Given the description of an element on the screen output the (x, y) to click on. 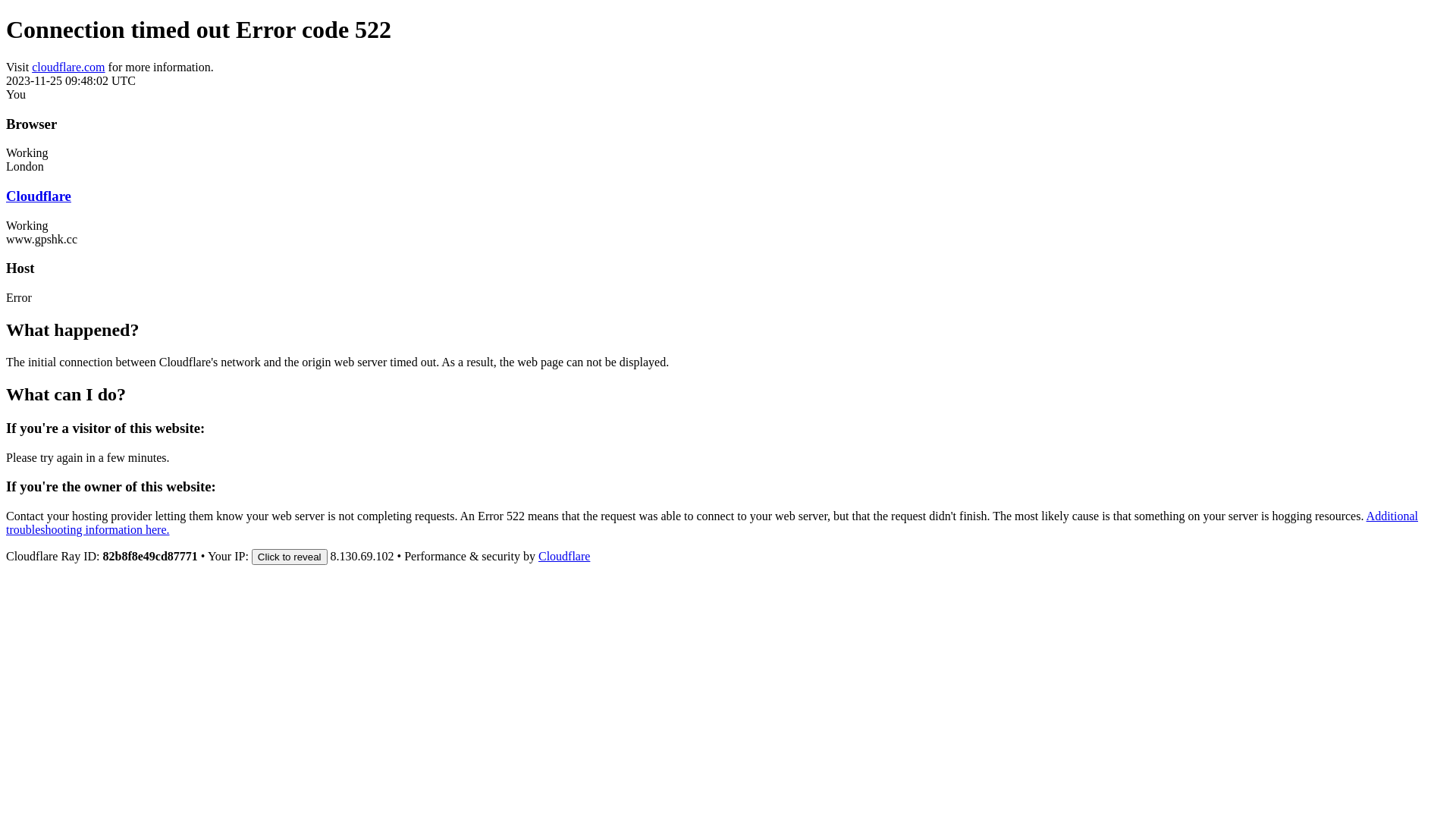
Cloudflare Element type: text (563, 555)
Cloudflare Element type: text (38, 195)
Click to reveal Element type: text (289, 556)
Additional troubleshooting information here. Element type: text (712, 522)
cloudflare.com Element type: text (67, 66)
